Given the description of an element on the screen output the (x, y) to click on. 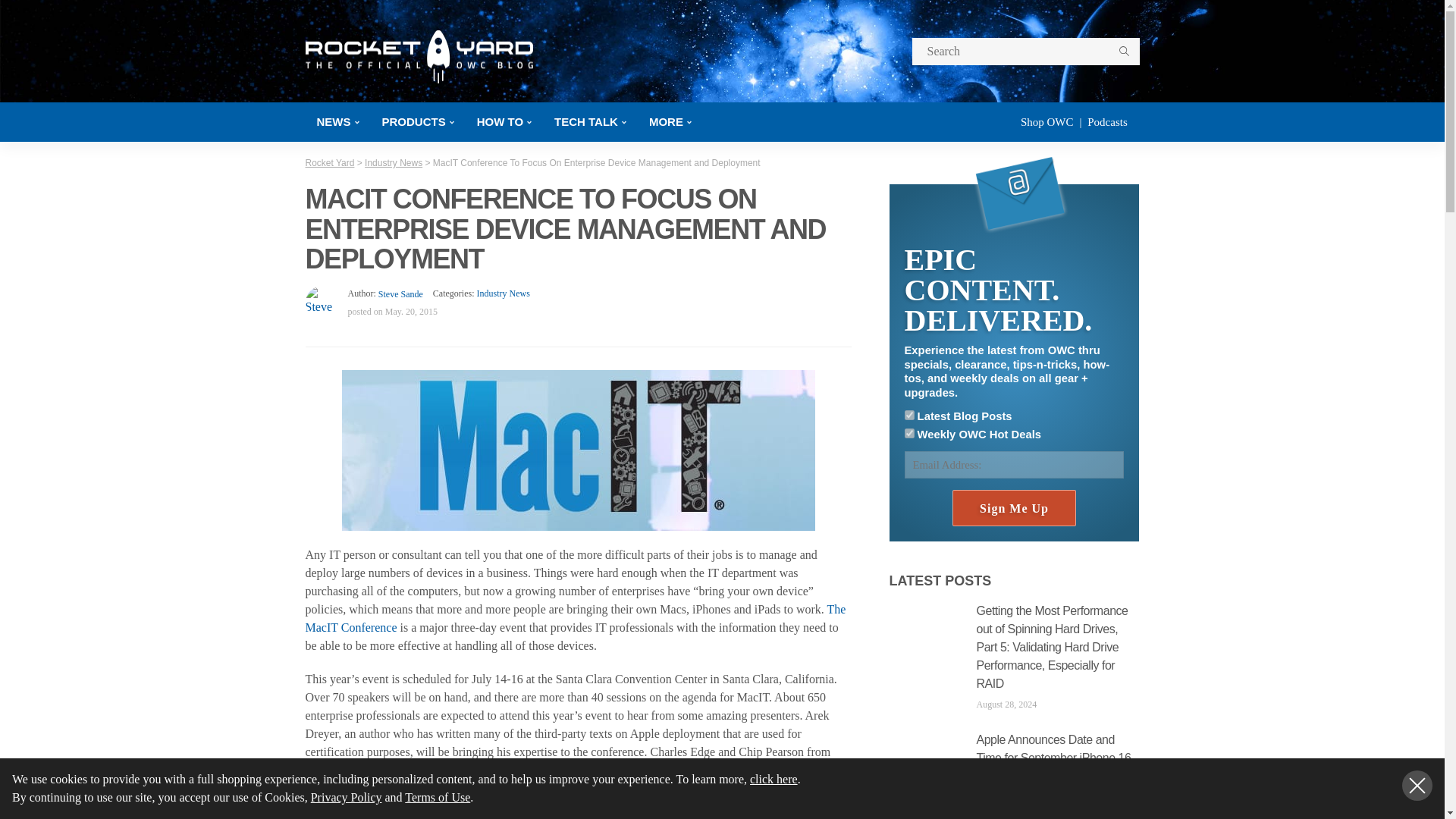
NEWS (336, 121)
Industry News (502, 293)
search for: (1024, 51)
Go to Rocket Yard. (328, 163)
Sign Me Up (1013, 507)
0bcd03ec00000000000000000000001f995c (909, 415)
Go to the Industry News category archives. (393, 163)
